Given the description of an element on the screen output the (x, y) to click on. 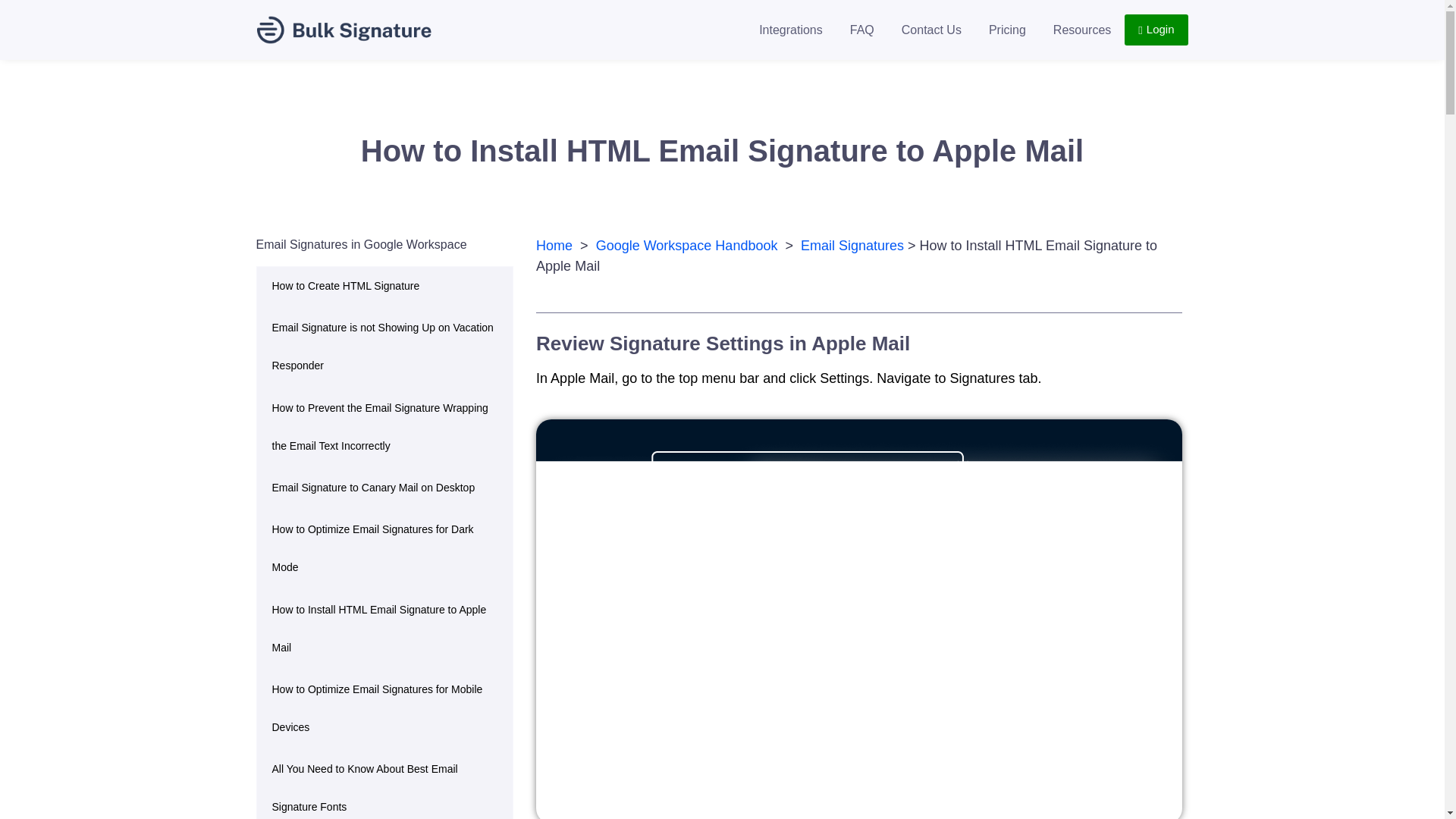
FAQ (861, 29)
Resources (1081, 29)
Google Workspace Handbook (686, 245)
Email Signatures (853, 245)
Contact Us (931, 29)
Integrations (790, 29)
Pricing (1007, 29)
Email Signature to Canary Mail on Desktop (384, 487)
How to Create HTML Signature (384, 285)
FAQ (861, 29)
How to Install HTML Email Signature to Apple Mail (384, 628)
Pricing (1007, 29)
Home (553, 245)
Integrations (790, 29)
